Given the description of an element on the screen output the (x, y) to click on. 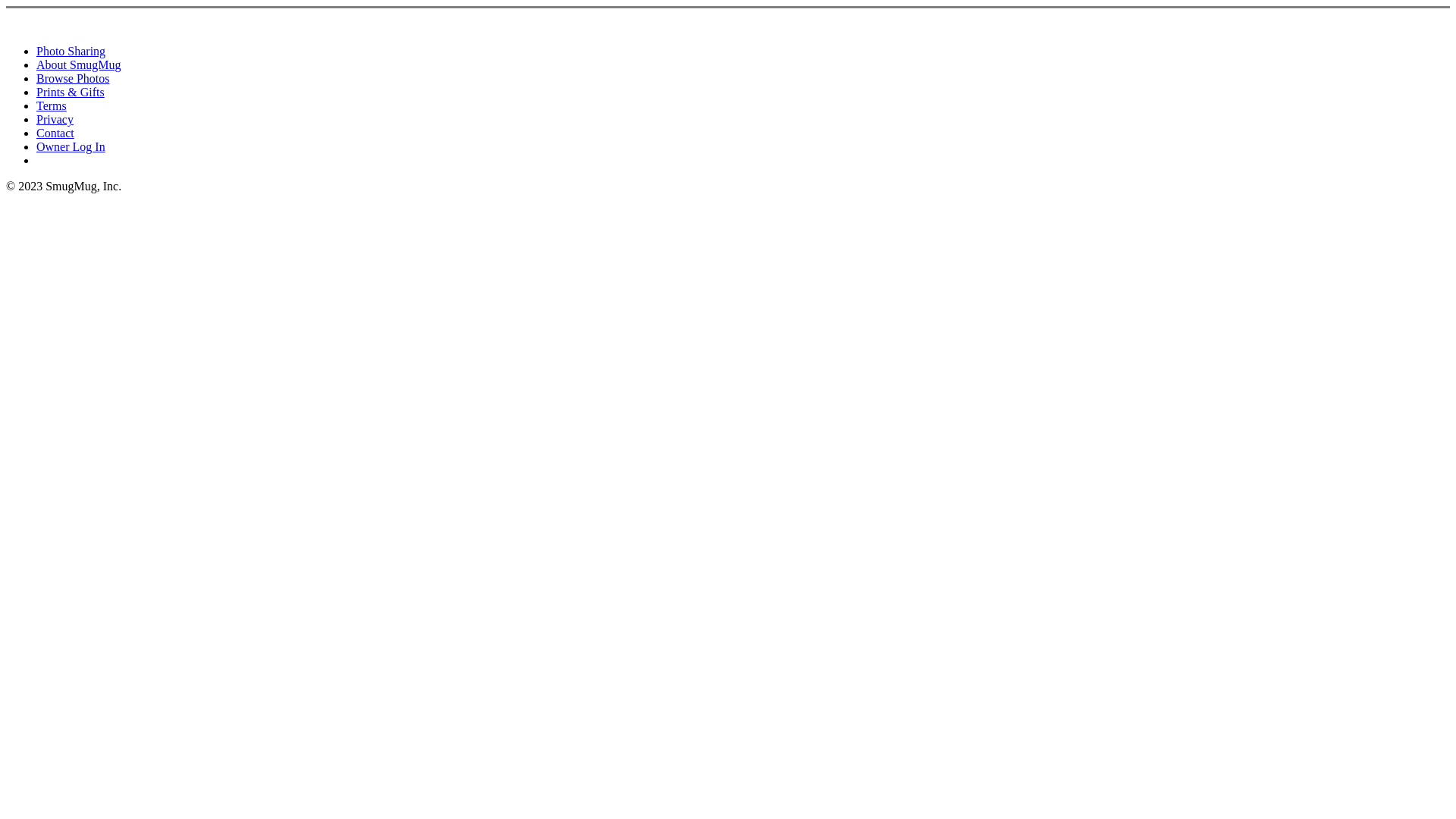
Owner Log In Element type: text (70, 146)
About SmugMug Element type: text (78, 64)
Privacy Element type: text (54, 118)
Browse Photos Element type: text (72, 78)
Contact Element type: text (55, 132)
Photo Sharing Element type: text (70, 50)
Prints & Gifts Element type: text (70, 91)
Terms Element type: text (51, 105)
